Given the description of an element on the screen output the (x, y) to click on. 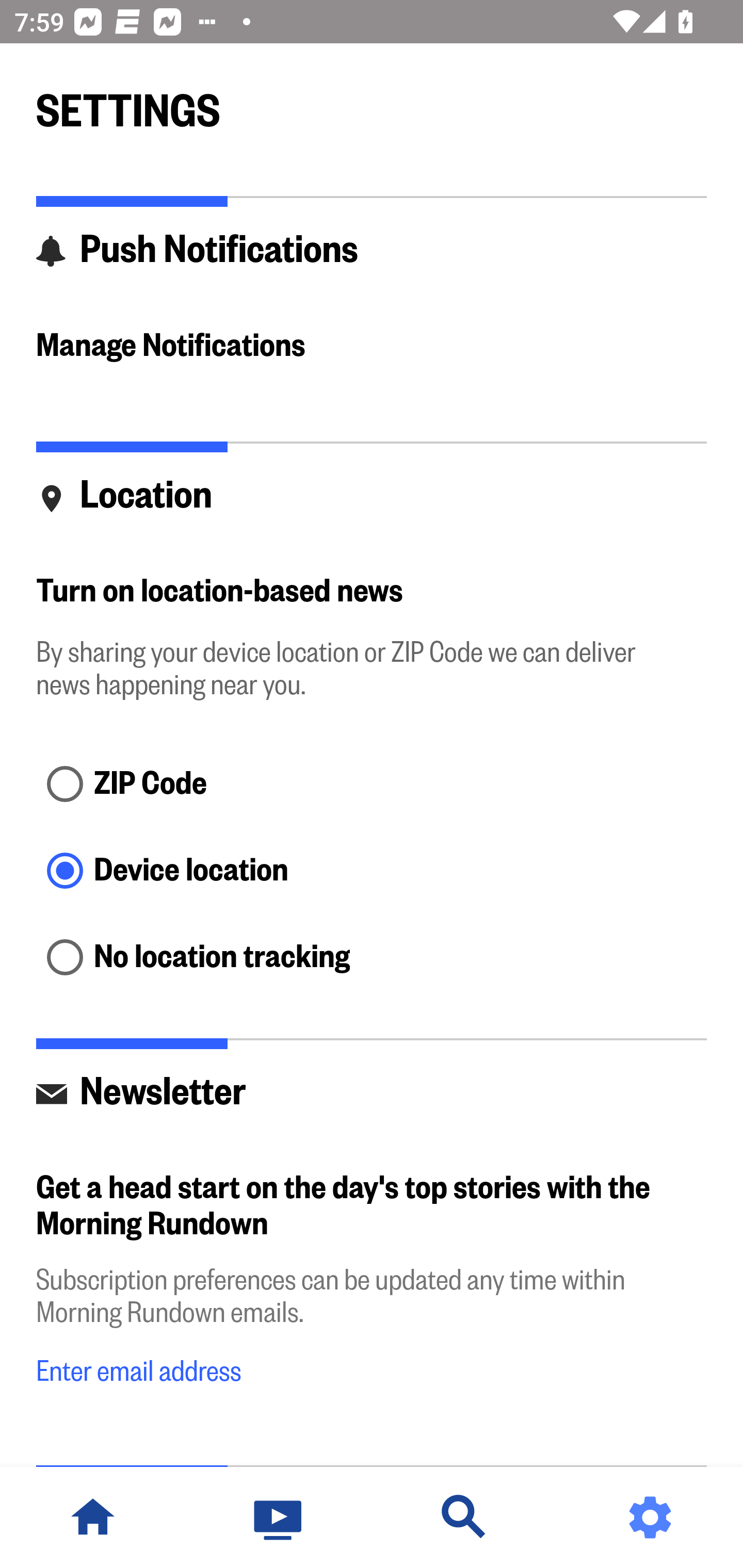
SETTINGS (371, 101)
Manage Notifications (371, 346)
ZIP Code (371, 785)
Device location (371, 872)
No location tracking (371, 958)
NBC News Home (92, 1517)
Watch (278, 1517)
Discover (464, 1517)
